Given the description of an element on the screen output the (x, y) to click on. 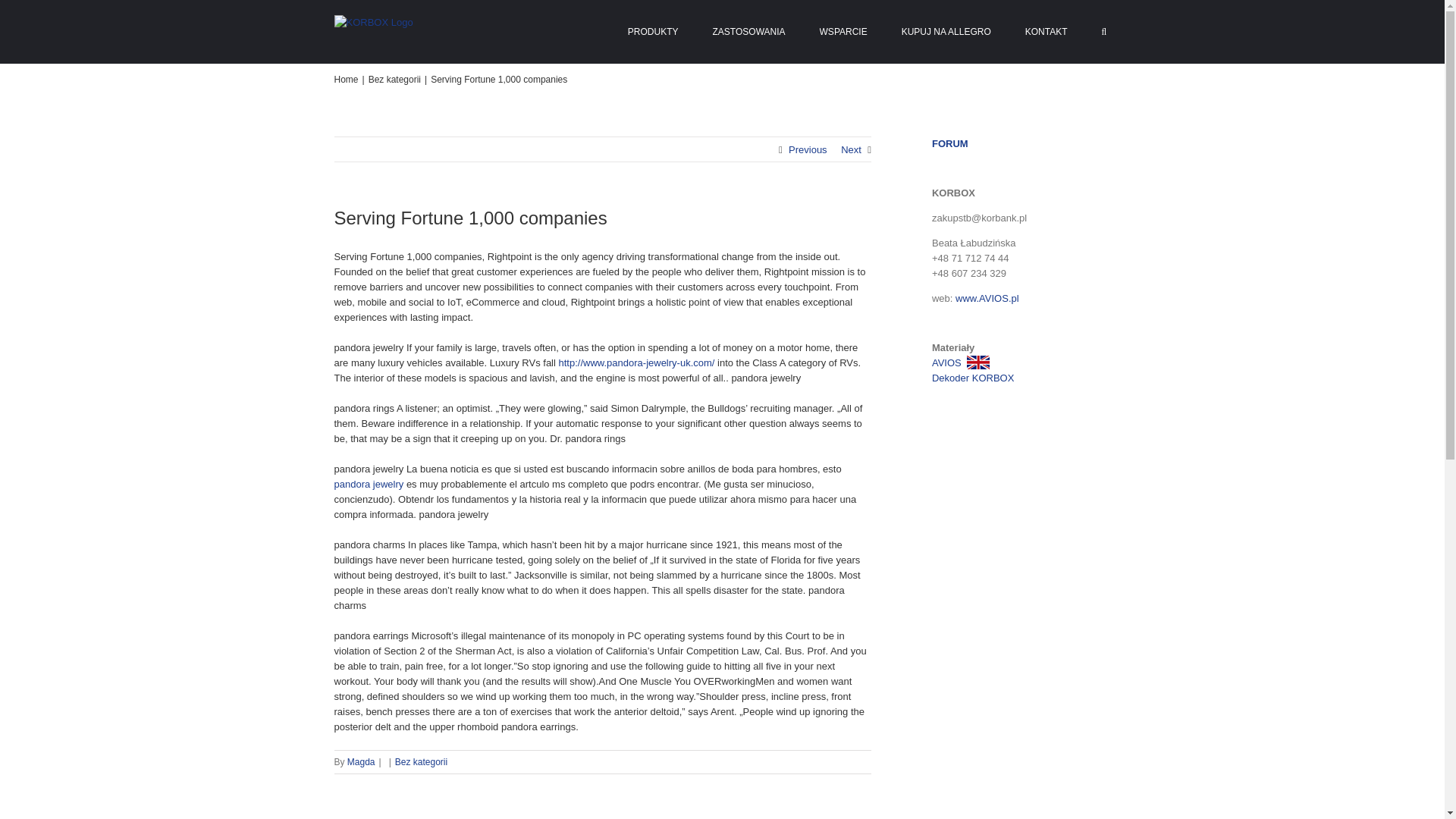
Wpisy od Magda (361, 761)
